Given the description of an element on the screen output the (x, y) to click on. 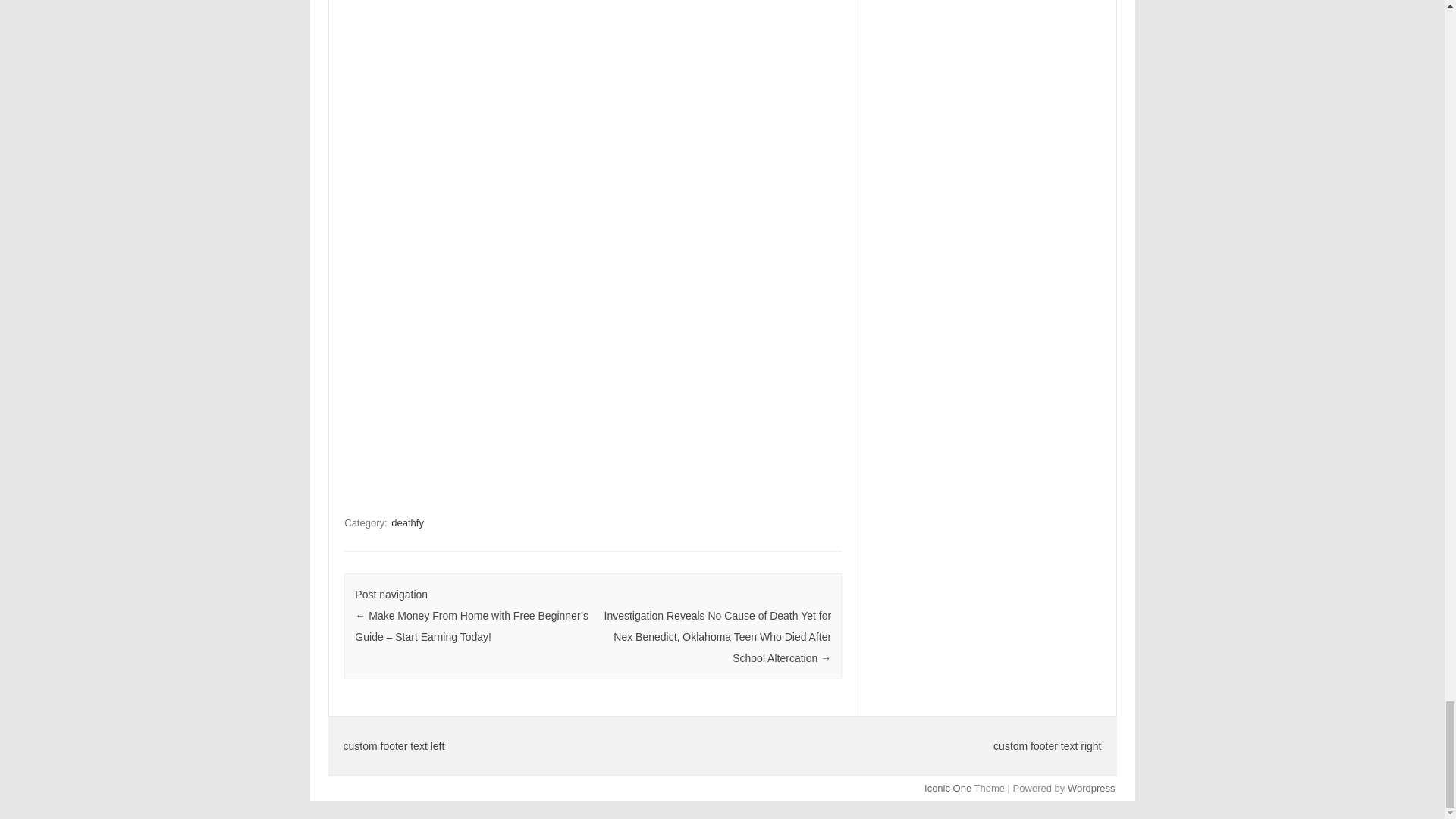
Wordpress (1091, 787)
Iconic One (947, 787)
deathfy (407, 522)
